Given the description of an element on the screen output the (x, y) to click on. 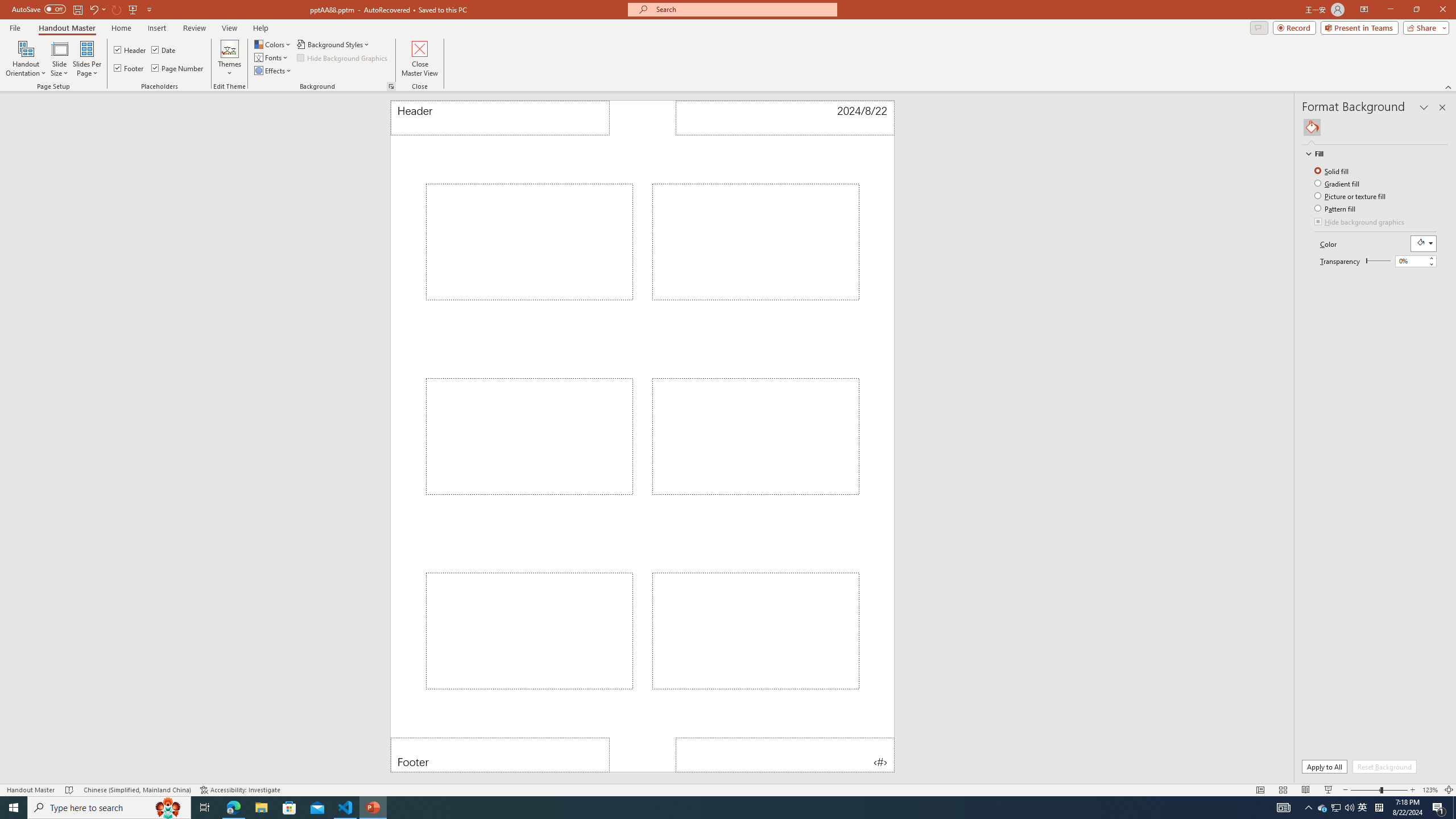
Spell Check No Errors (69, 790)
Apply to All (1323, 766)
Class: MsoCommandBar (728, 789)
Pattern fill (1335, 208)
Close pane (1441, 107)
Themes (229, 58)
Hide background graphics (1360, 222)
Zoom 123% (1430, 790)
Slides Per Page (87, 58)
Less (1430, 263)
